Given the description of an element on the screen output the (x, y) to click on. 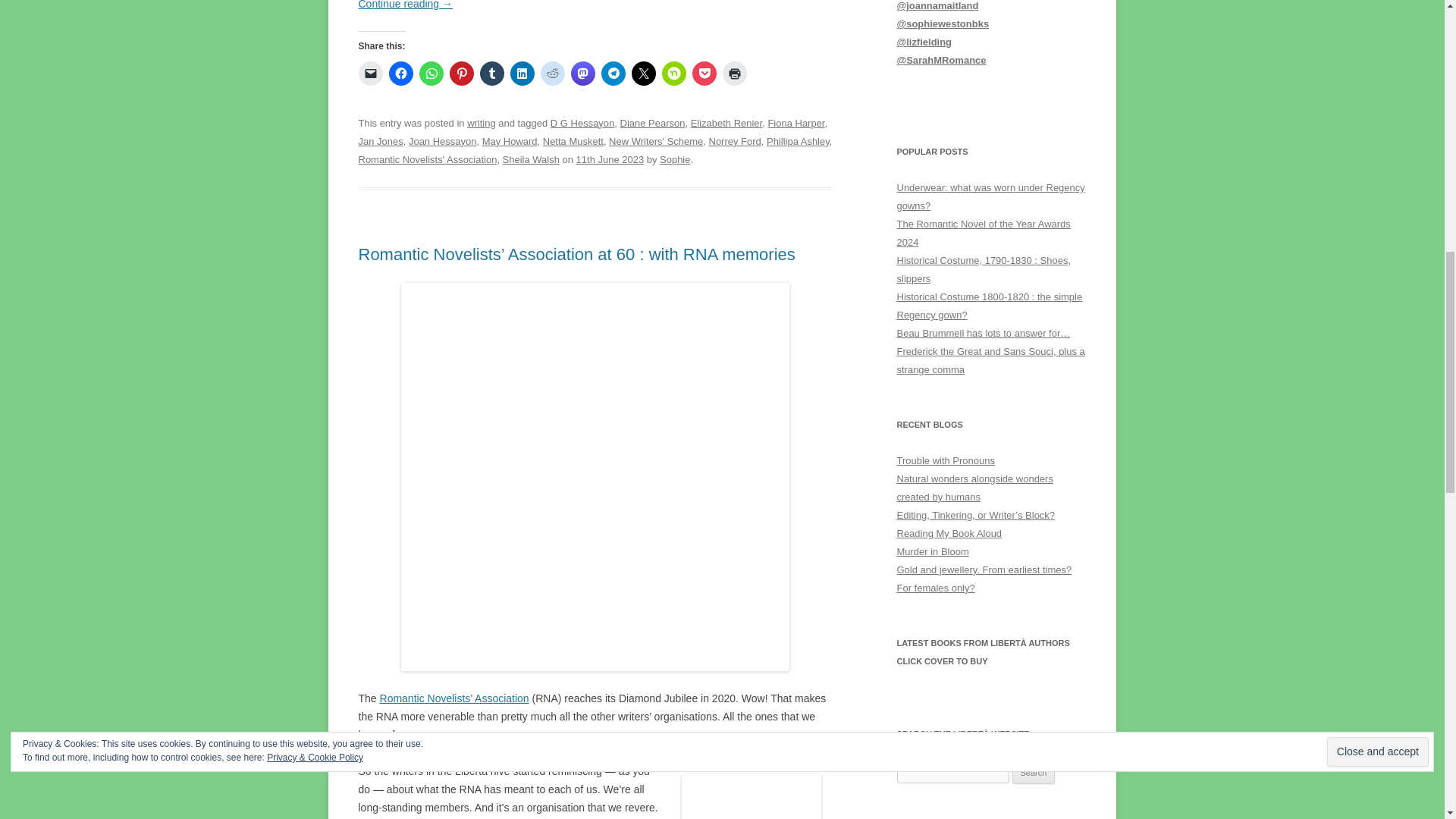
writing (481, 122)
Click to share on Facebook (400, 73)
Click to print (733, 73)
Click to share on LinkedIn (521, 73)
Joan Hessayon (443, 141)
Netta Muskett (573, 141)
Diane Pearson (652, 122)
D G Hessayon (582, 122)
Click to share on Pocket (703, 73)
Elizabeth Renier (726, 122)
